Given the description of an element on the screen output the (x, y) to click on. 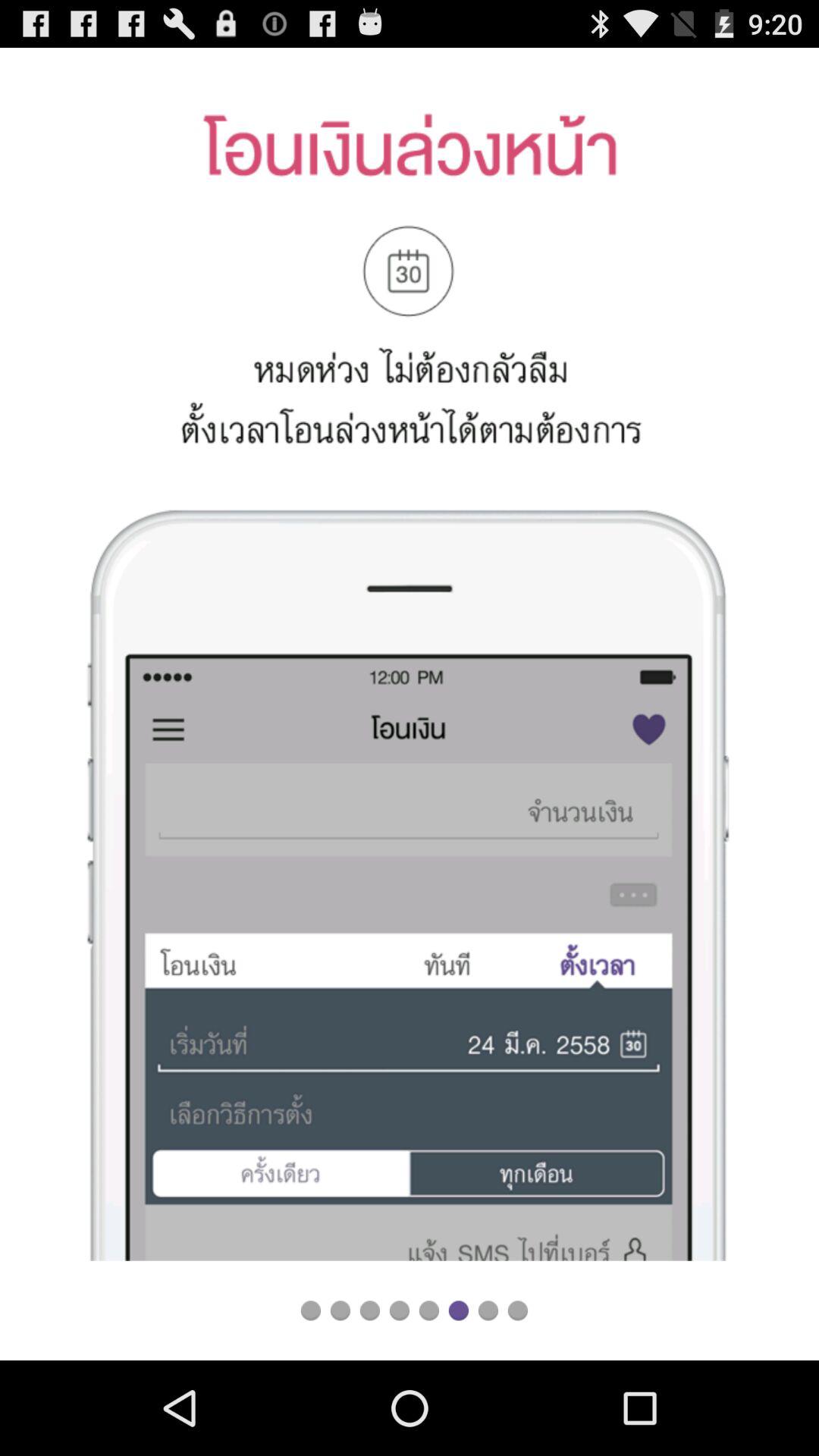
go to second page (340, 1310)
